Given the description of an element on the screen output the (x, y) to click on. 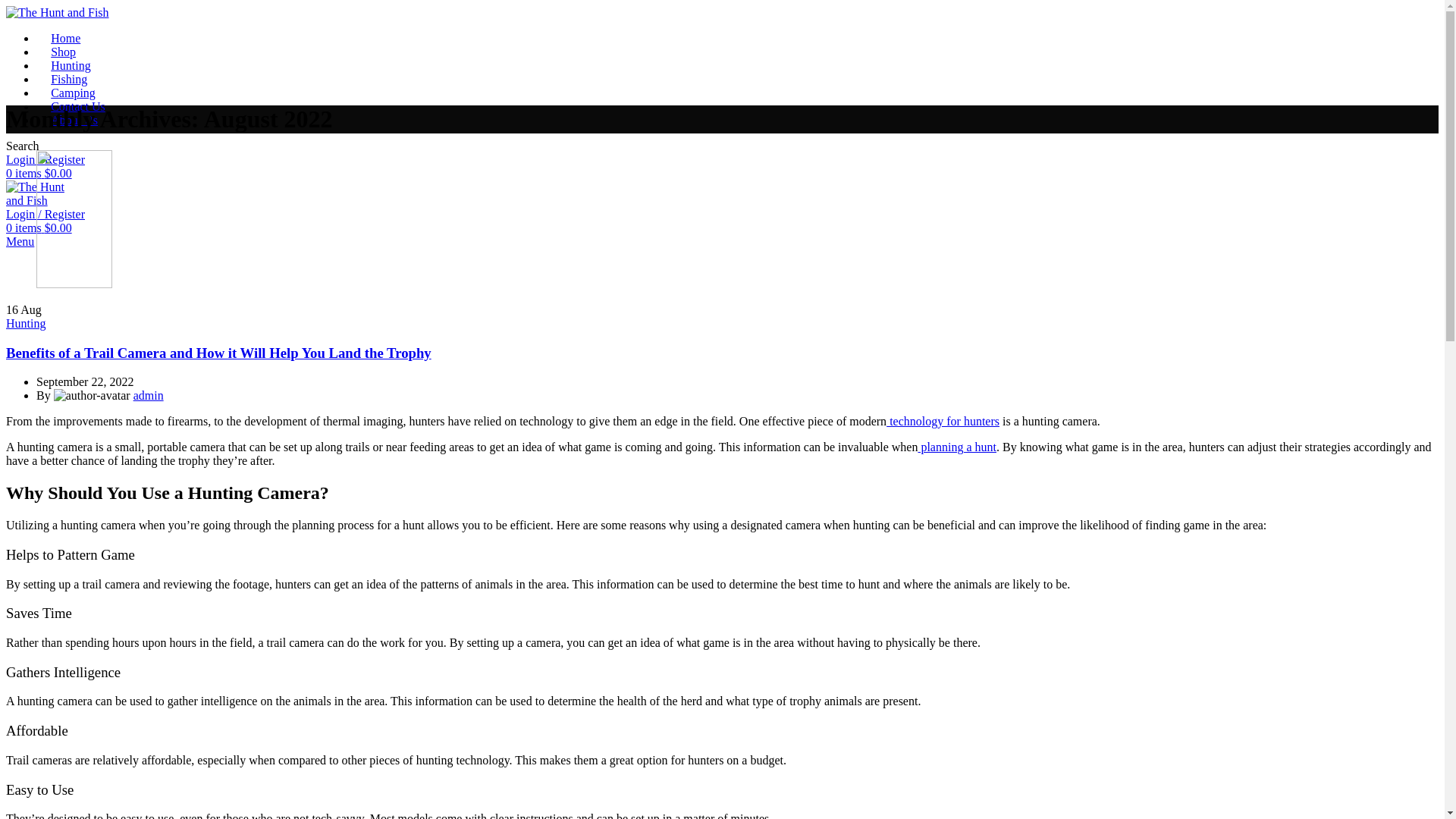
Shopping cart (38, 173)
My account (44, 214)
Shopping cart (38, 227)
admin (148, 395)
Contact Us (77, 106)
Hunting (25, 323)
Home (65, 38)
planning a hunt (956, 446)
Hunting (70, 65)
My account (44, 159)
technology for hunters (942, 420)
Camping (73, 92)
Shop (62, 51)
Menu (19, 241)
